Given the description of an element on the screen output the (x, y) to click on. 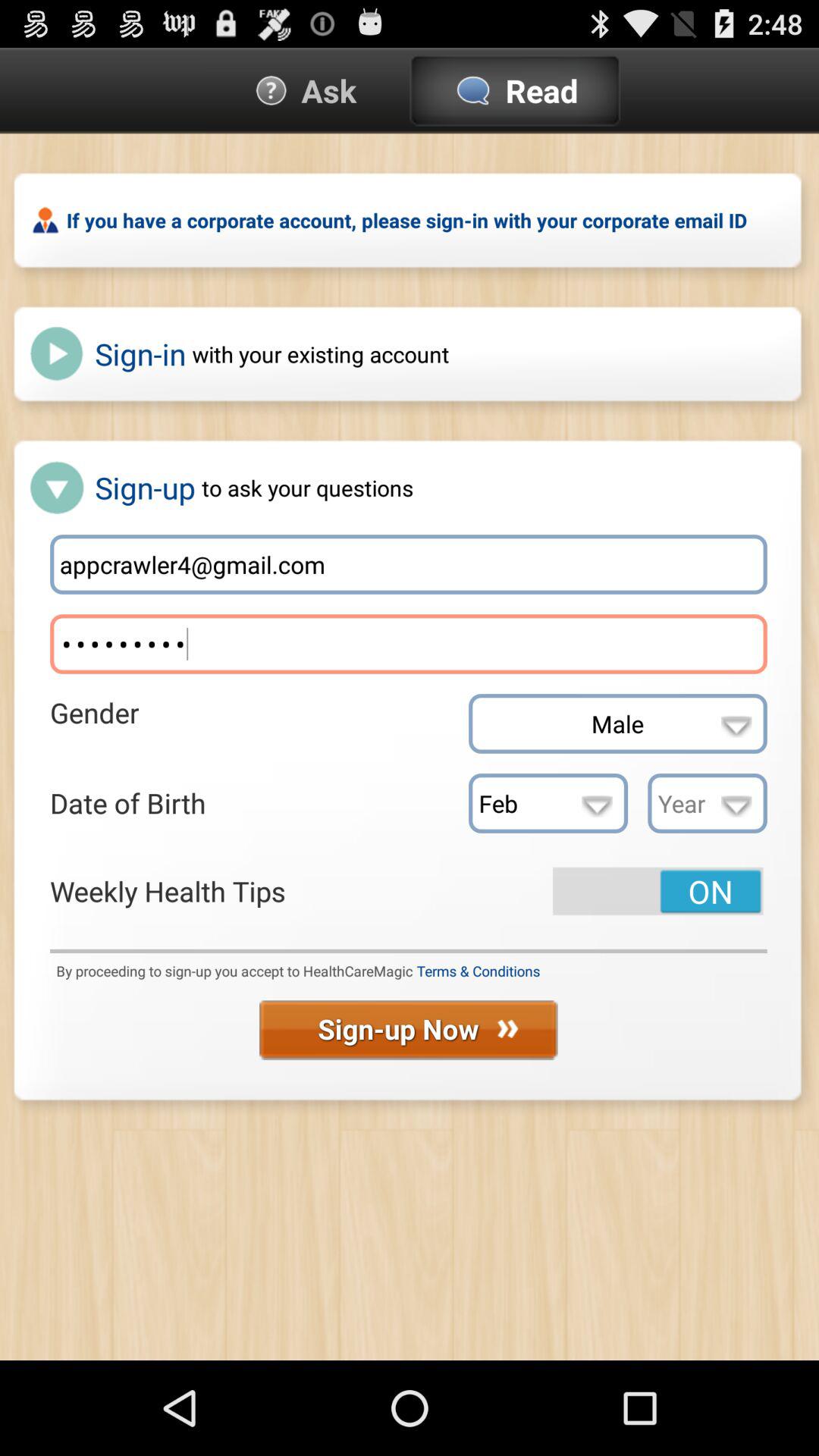
write the date (707, 803)
